Given the description of an element on the screen output the (x, y) to click on. 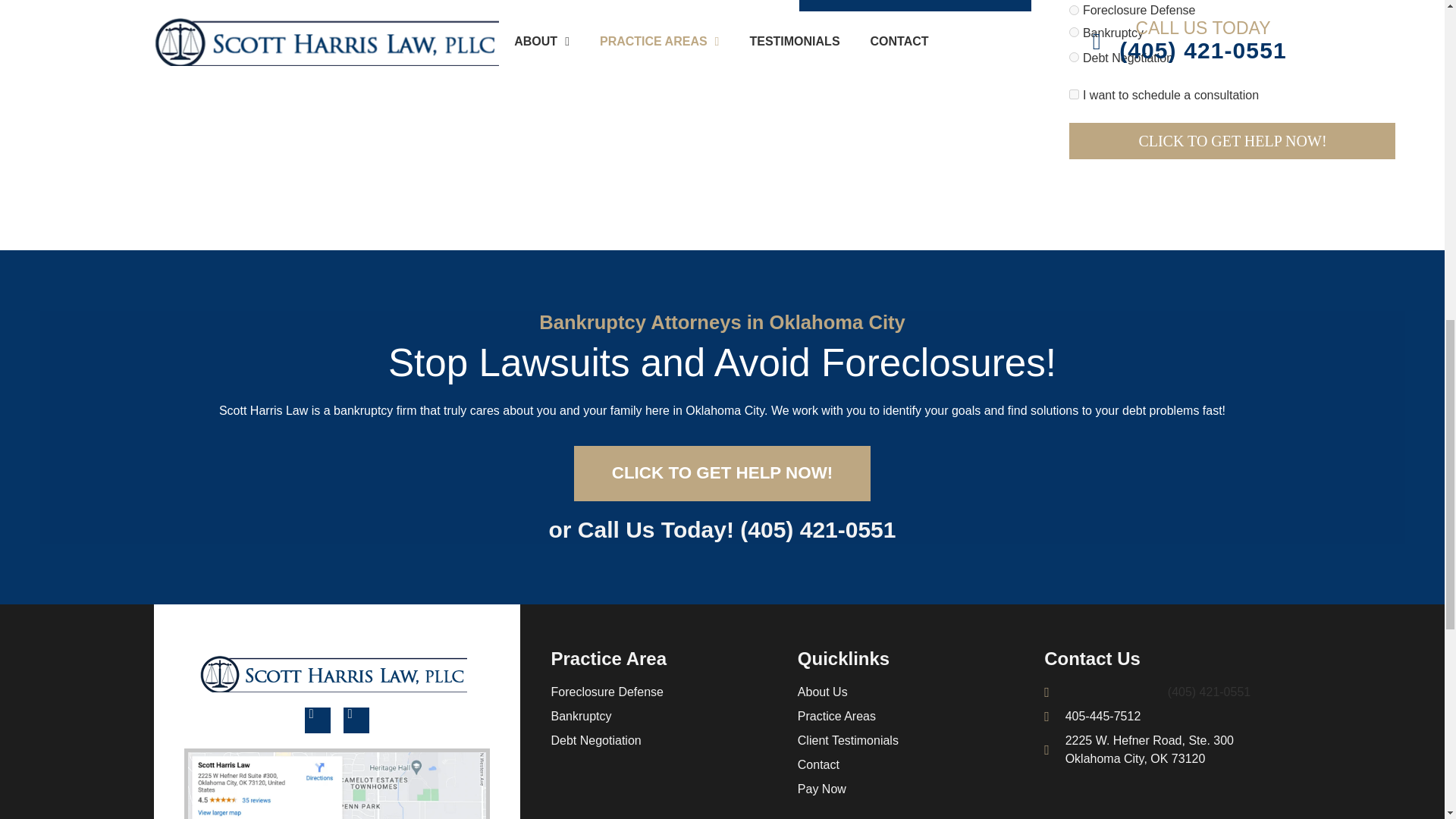
Bankruptcy (1073, 31)
 I want to schedule a consultation (1073, 94)
Foreclosure Defense (1073, 9)
Debt Negotiation (1073, 57)
